Given the description of an element on the screen output the (x, y) to click on. 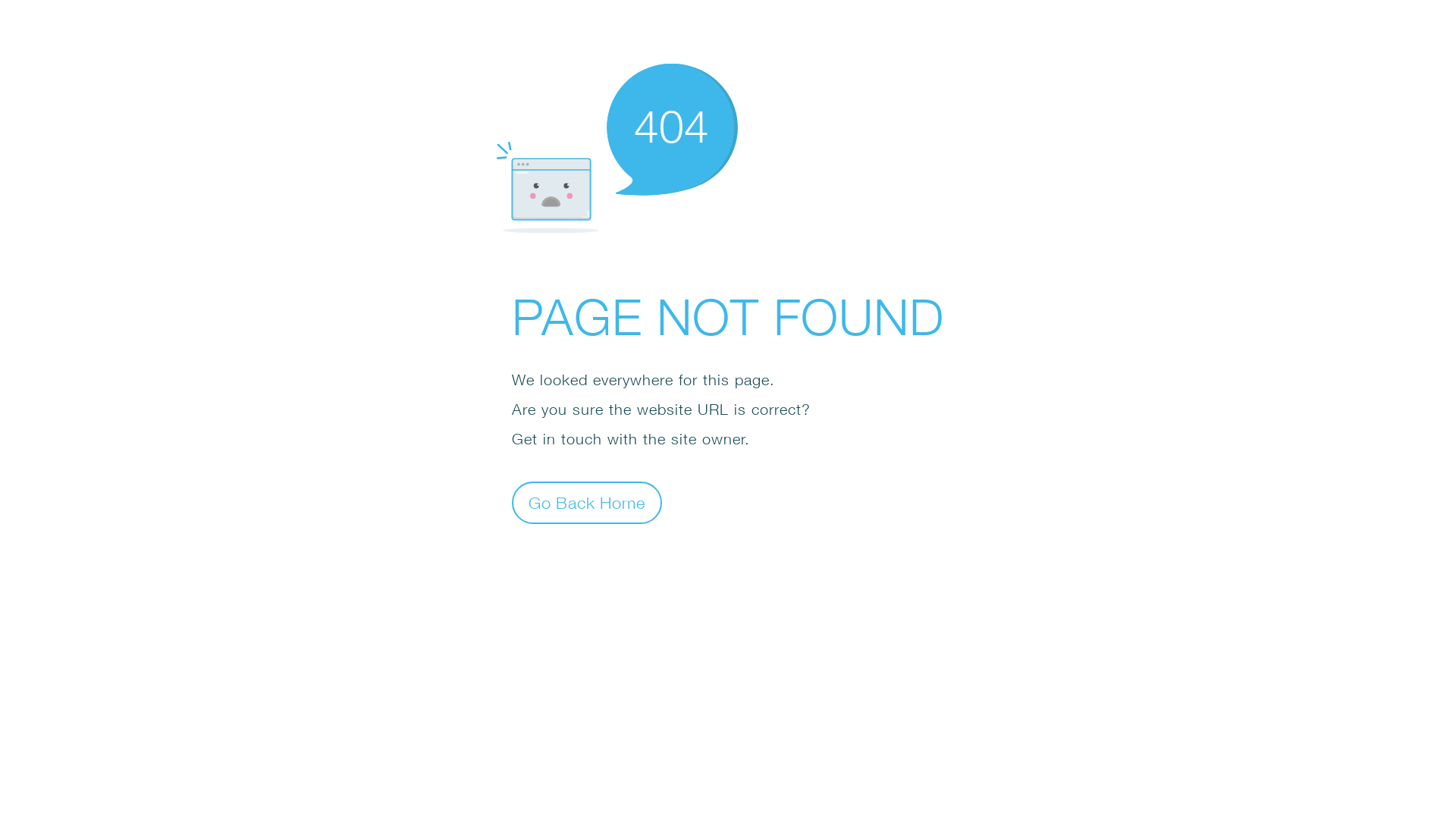
Go Back Home Element type: text (586, 502)
